Given the description of an element on the screen output the (x, y) to click on. 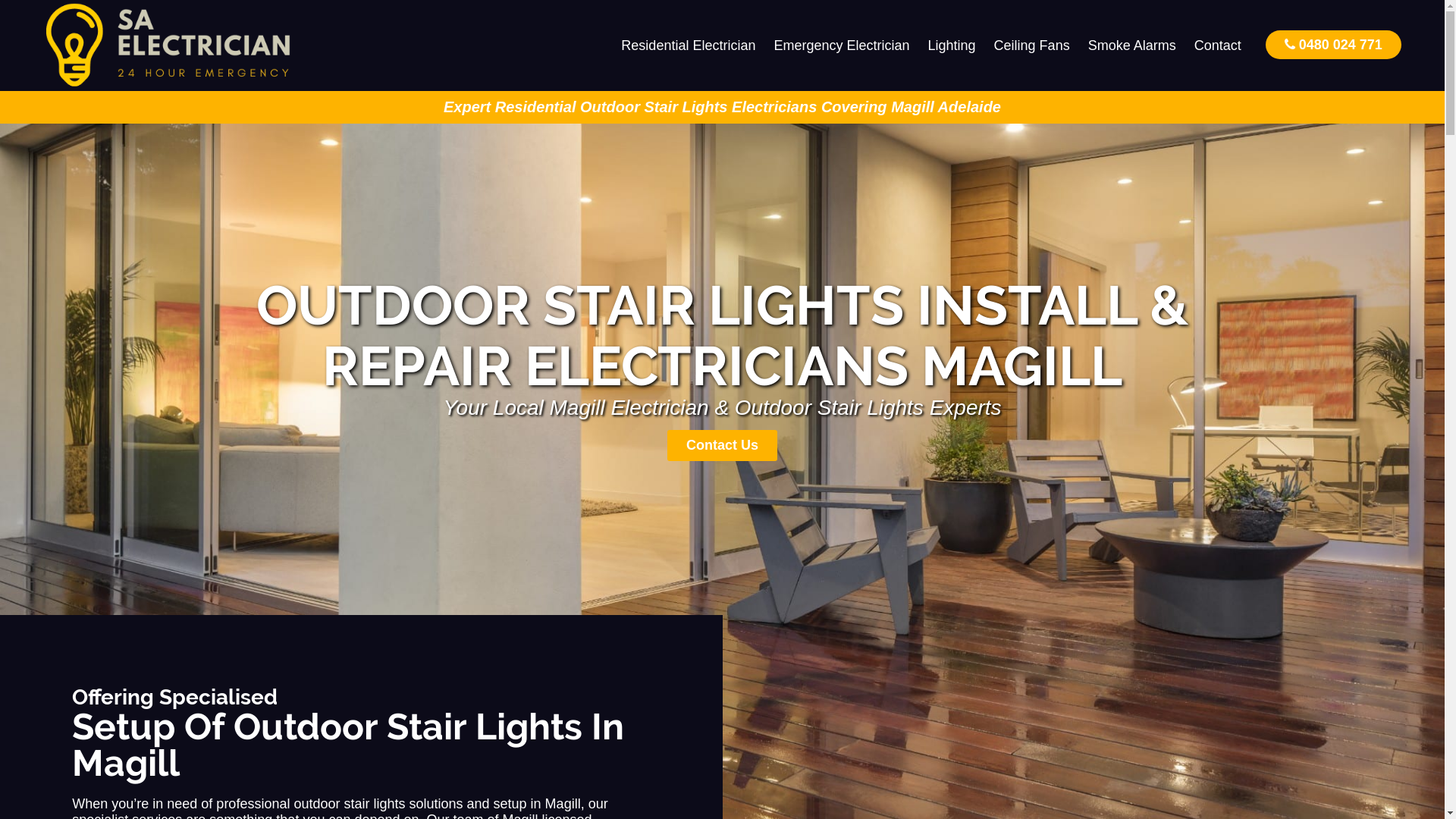
Residential Electrician Element type: text (687, 45)
0480 024 771 Element type: text (1333, 44)
Emergency Electrician Element type: text (841, 45)
Ceiling Fans Element type: text (1032, 45)
Contact Us Element type: text (722, 445)
Lighting Element type: text (952, 45)
Smoke Alarms Element type: text (1132, 45)
Contact Element type: text (1217, 45)
